Given the description of an element on the screen output the (x, y) to click on. 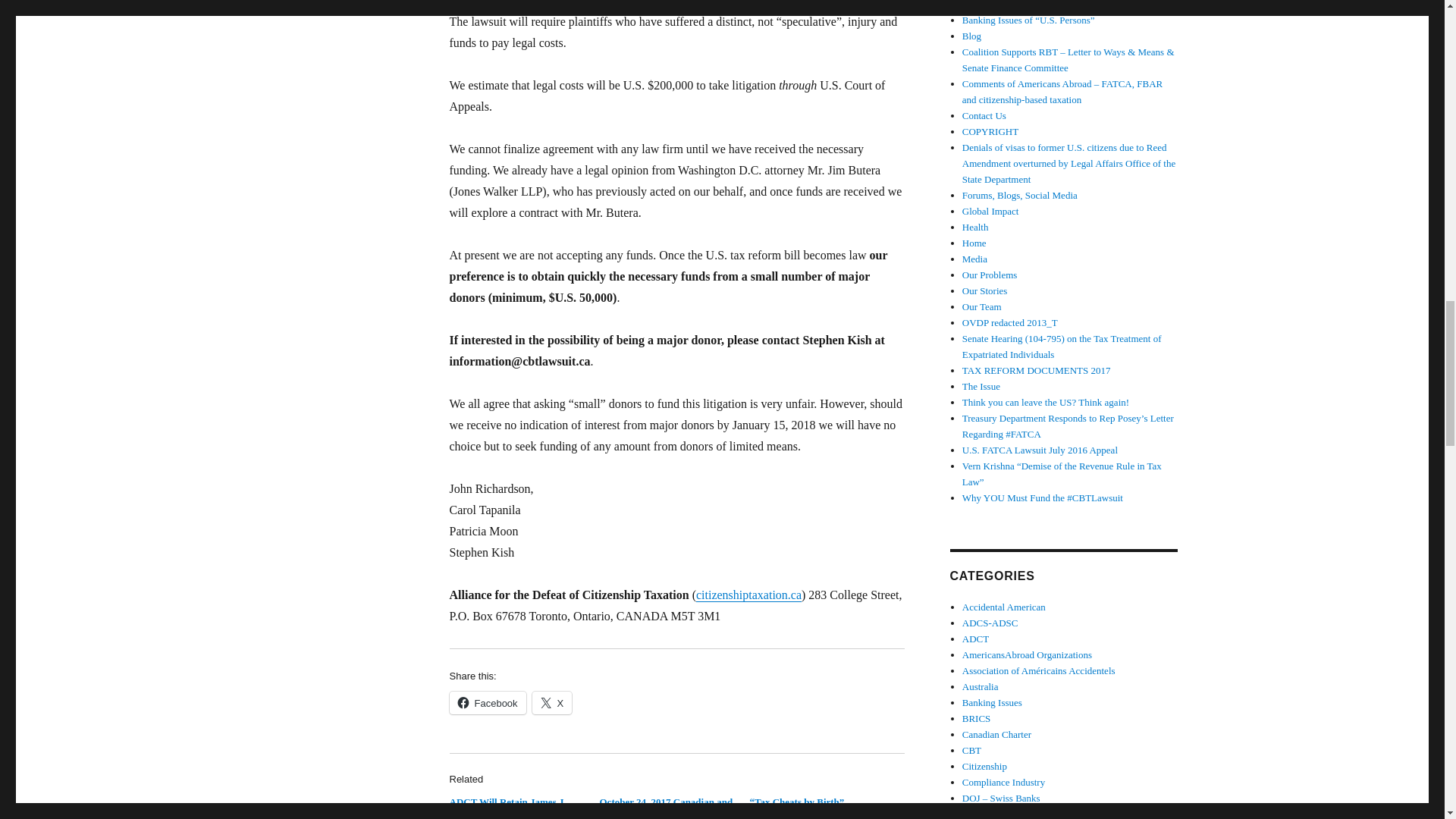
X (552, 702)
Click to share on X (552, 702)
citizenshiptaxation.ca (748, 594)
Click to share on Facebook (486, 702)
Facebook (486, 702)
ADCT Will Retain James J. Butera for CBT LawSuit (507, 807)
citizenshiptaxation.ca (748, 594)
ADCT  Will Retain James J. Butera for CBT LawSuit (507, 807)
